Given the description of an element on the screen output the (x, y) to click on. 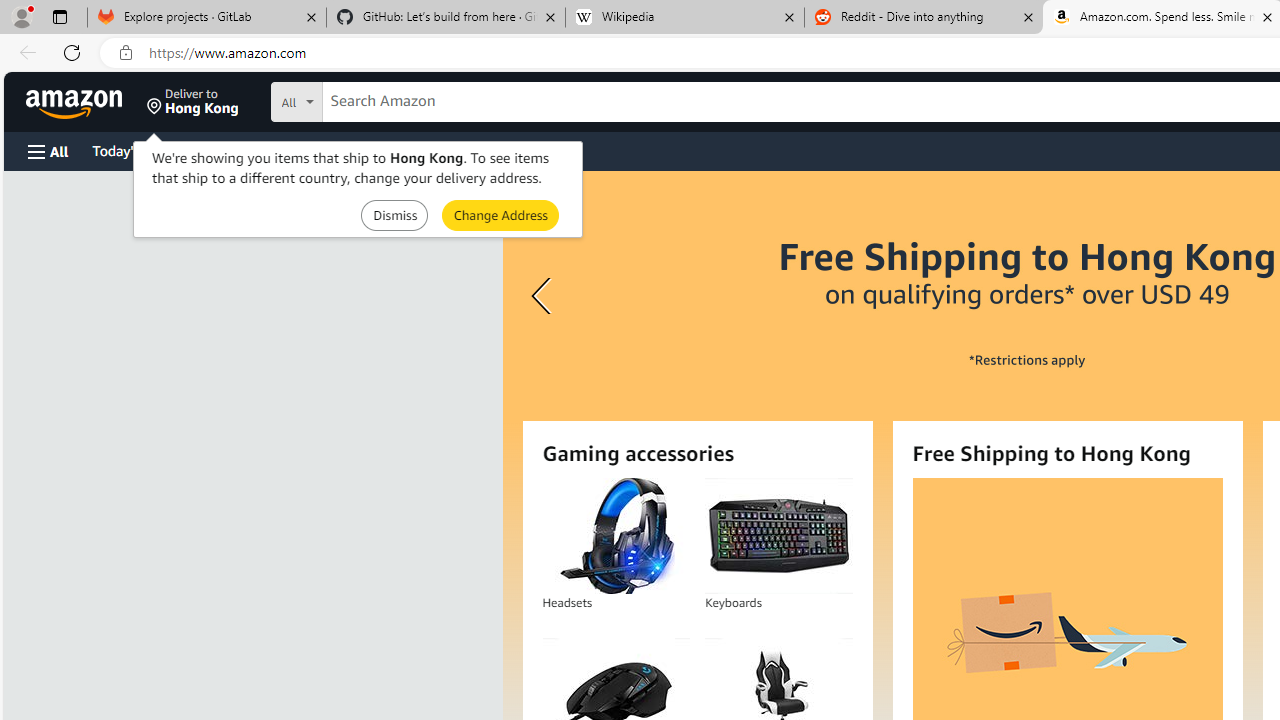
Customer Service (256, 150)
Open Menu (48, 151)
Wikipedia (684, 17)
Gift Cards (442, 150)
Keyboards (778, 536)
Submit (499, 214)
Keyboards (778, 536)
Today's Deals (134, 150)
